Given the description of an element on the screen output the (x, y) to click on. 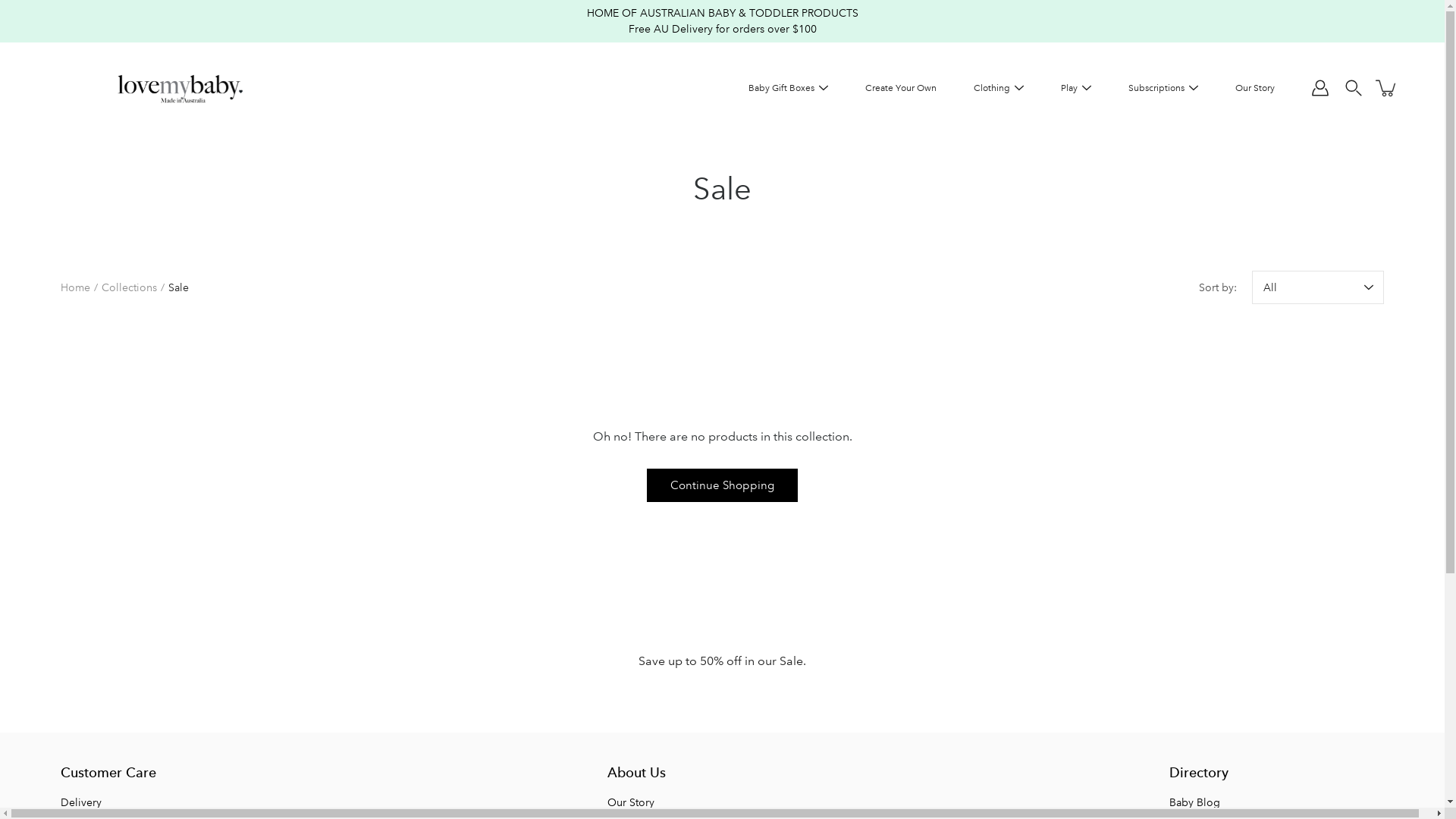
Collections Element type: text (128, 287)
Play Element type: text (1068, 87)
Our Story Element type: text (1254, 87)
Home Element type: text (75, 287)
Our Story Element type: text (629, 802)
Delivery Element type: text (80, 802)
Create Your Own Element type: text (900, 87)
Subscriptions Element type: text (1156, 87)
Clothing Element type: text (991, 87)
Continue Shopping Element type: text (721, 485)
Baby Blog Element type: text (1194, 802)
Baby Gift Boxes Element type: text (781, 87)
